Given the description of an element on the screen output the (x, y) to click on. 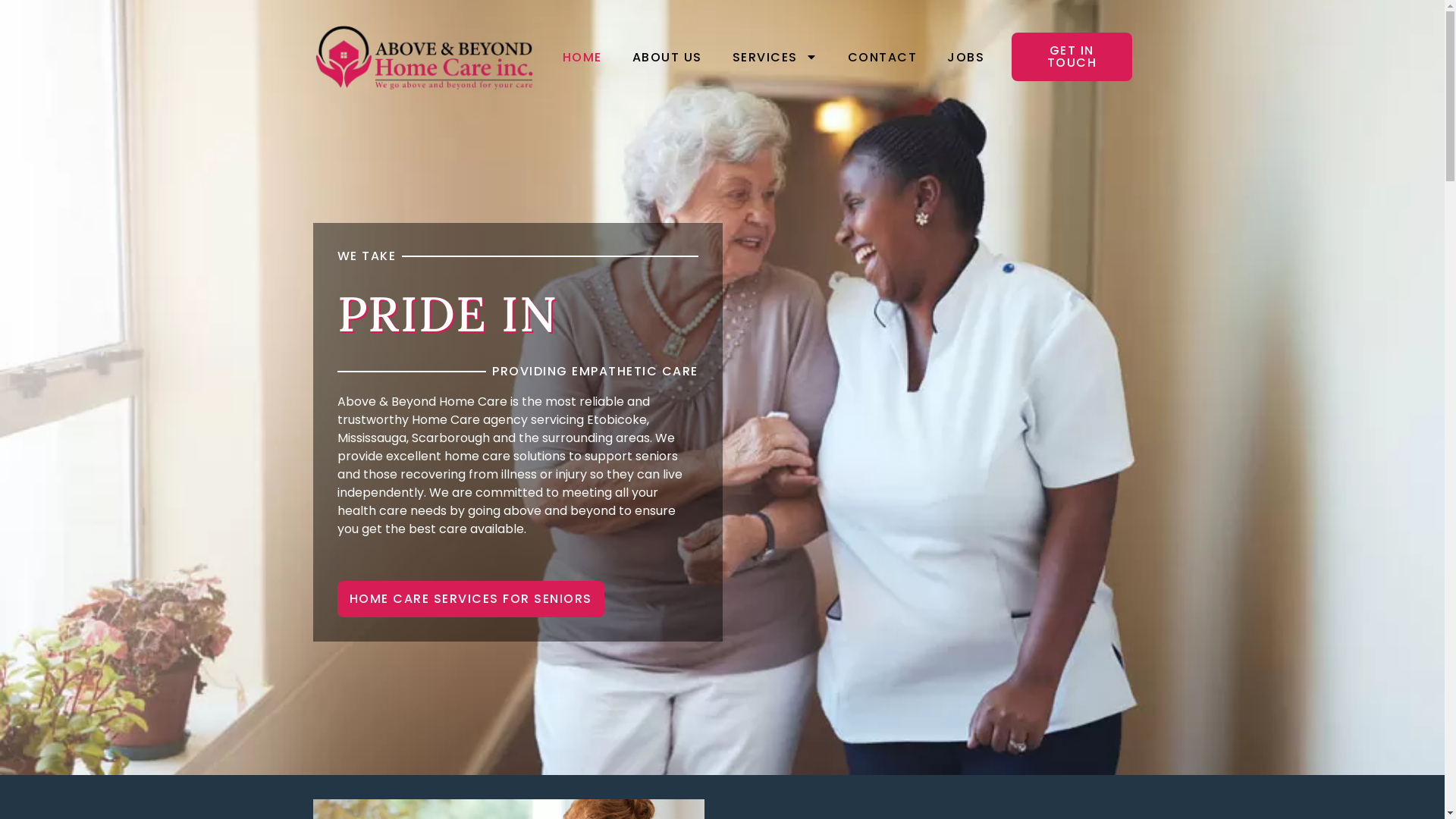
CONTACT Element type: text (882, 56)
SERVICES Element type: text (774, 56)
Above and Beyond Home Care Inc Element type: hover (423, 56)
HOME CARE SERVICES FOR SENIORS Element type: text (469, 598)
ABOUT US Element type: text (667, 56)
JOBS Element type: text (965, 56)
GET IN TOUCH Element type: text (1071, 56)
HOME Element type: text (582, 56)
